Given the description of an element on the screen output the (x, y) to click on. 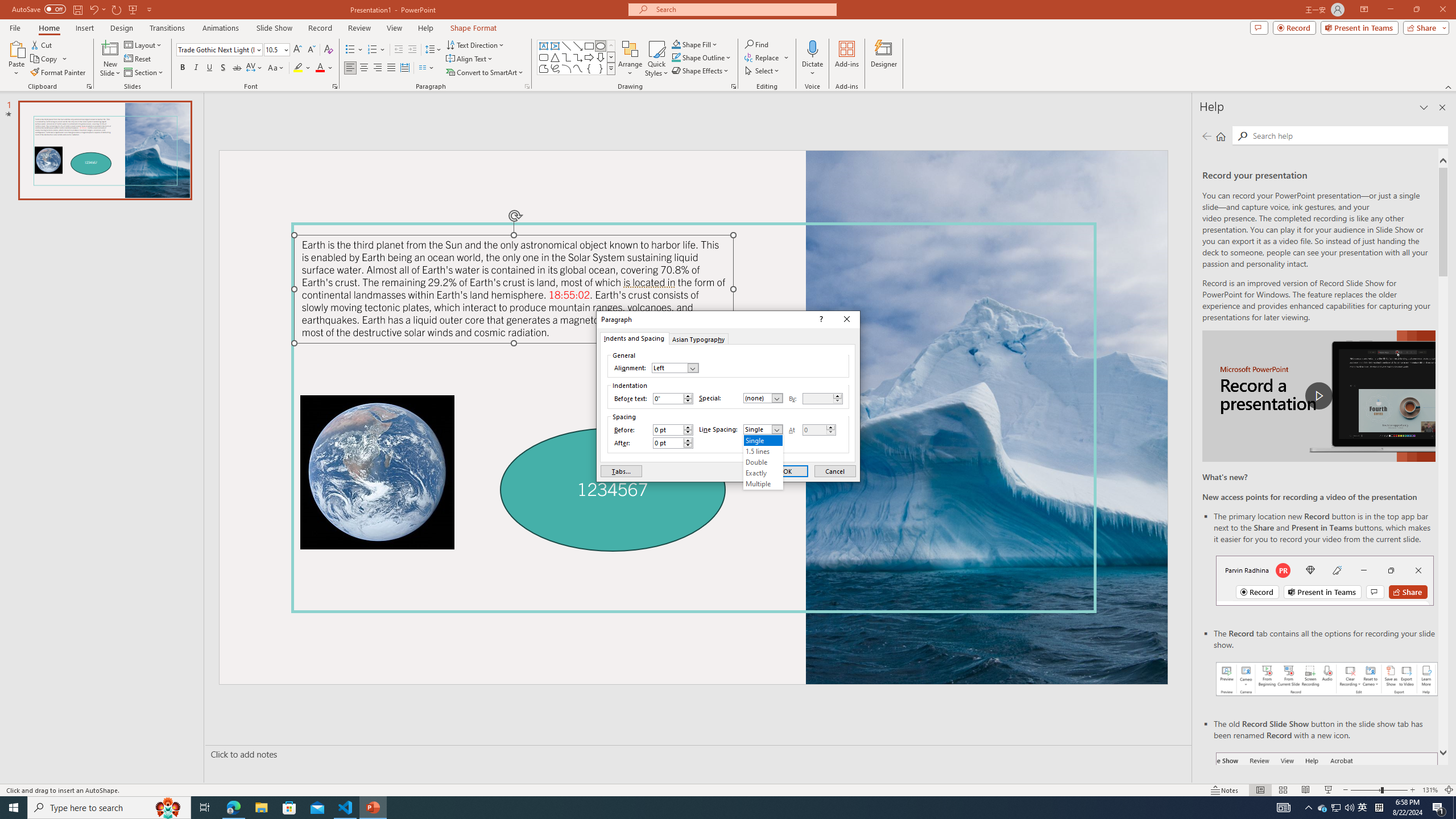
Indents and Spacing (633, 337)
